Given the description of an element on the screen output the (x, y) to click on. 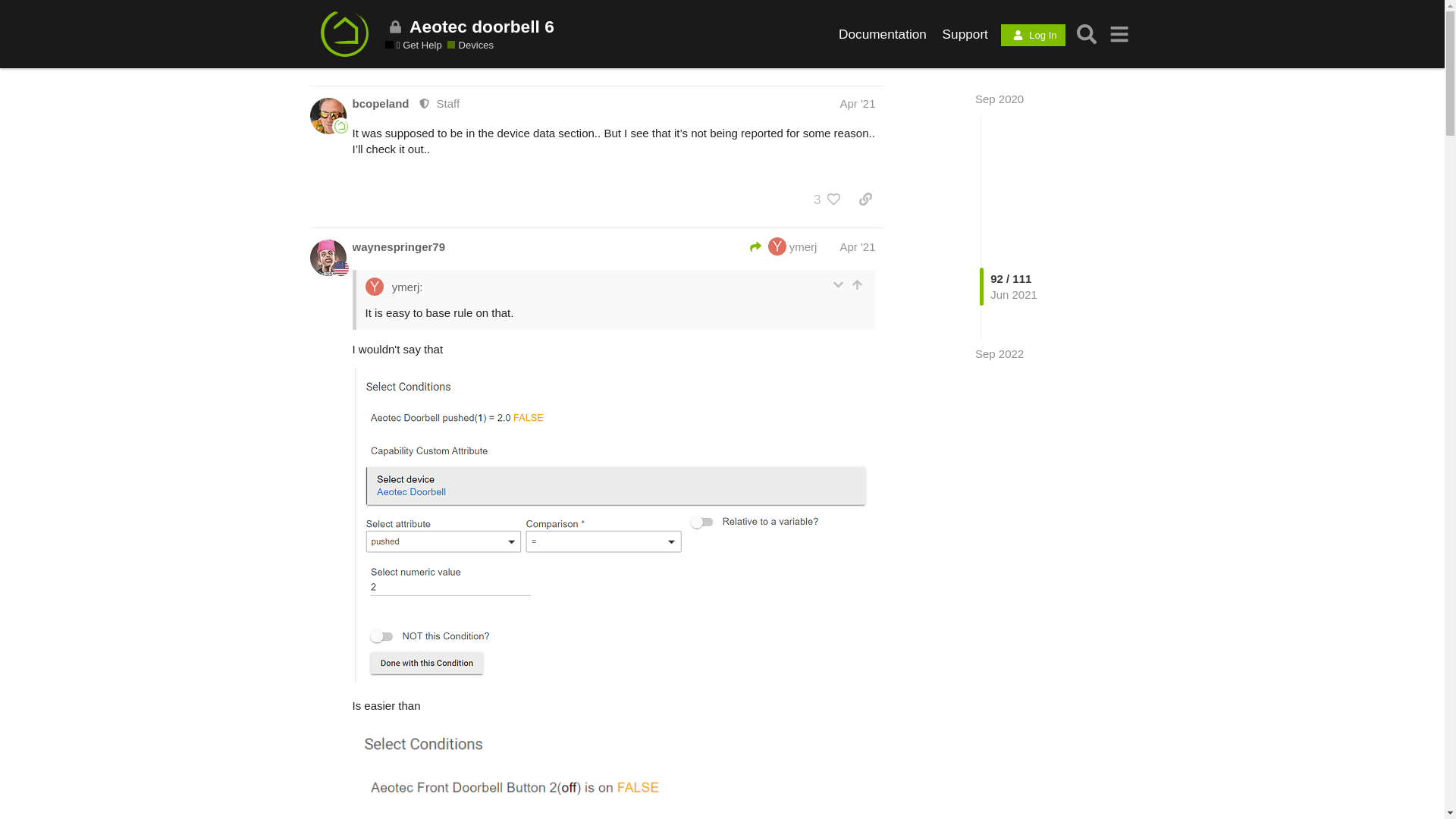
Sep 2022 (999, 353)
Sep 16, 2022 8:10 pm (999, 353)
Sep 2020 (999, 98)
This topic is closed; it no longer accepts new replies (395, 26)
Sep 2020 (999, 98)
hubitat (340, 126)
copy a link to this post to clipboard (865, 199)
Apr '21 (857, 103)
Hubitat Elevation Documentation (882, 33)
bcopeland (380, 103)
This user is a moderator (421, 102)
3 (825, 199)
3 people liked this post (825, 199)
waynespringer79 (398, 246)
